Given the description of an element on the screen output the (x, y) to click on. 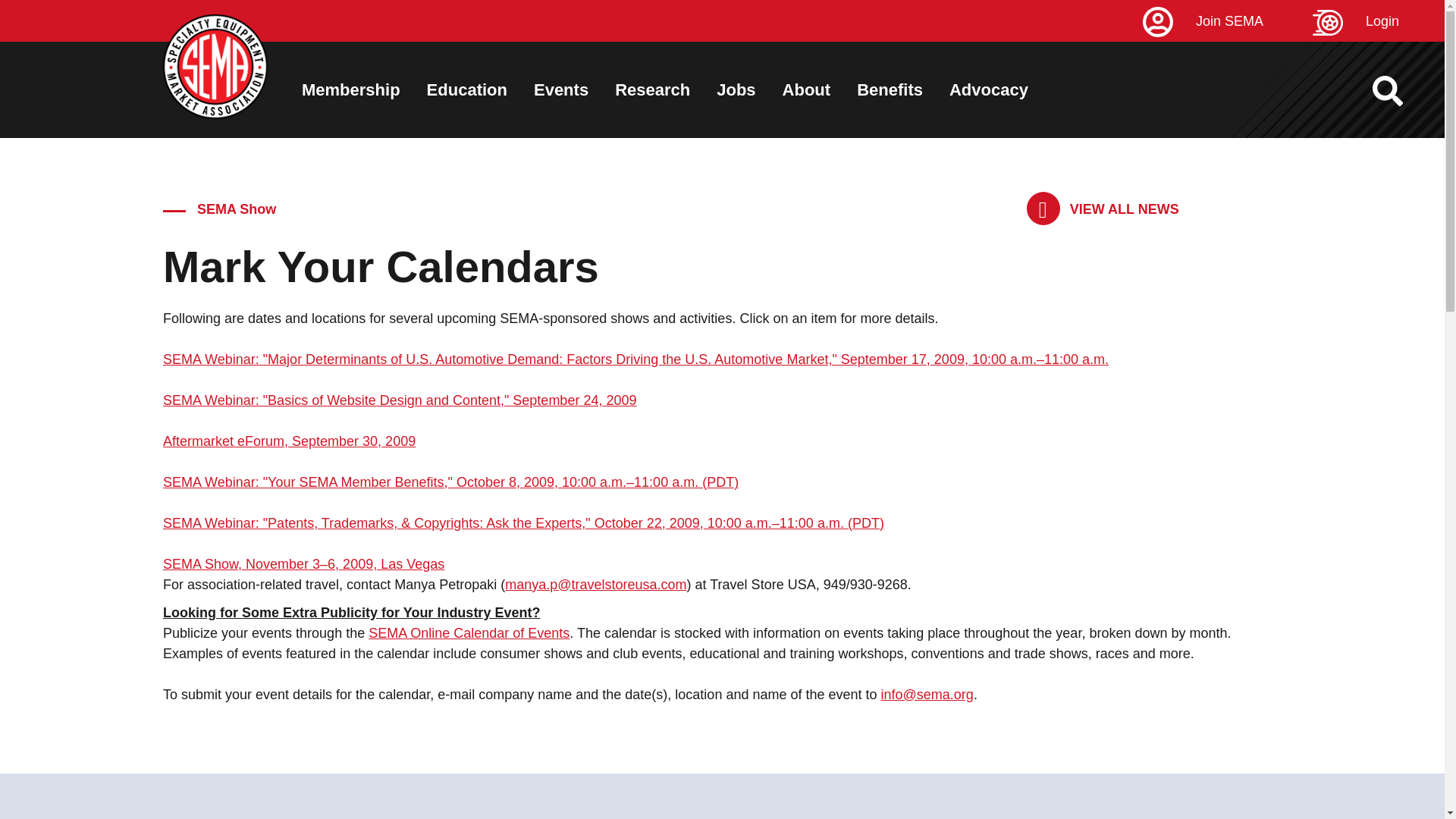
Research (652, 89)
Advocacy (988, 89)
Join SEMA (1225, 20)
eNews archive (1102, 209)
Membership (350, 89)
Education (466, 89)
SEMA Online Calendar of Events (468, 632)
VIEW ALL NEWS (1102, 209)
Benefits (889, 89)
